Given the description of an element on the screen output the (x, y) to click on. 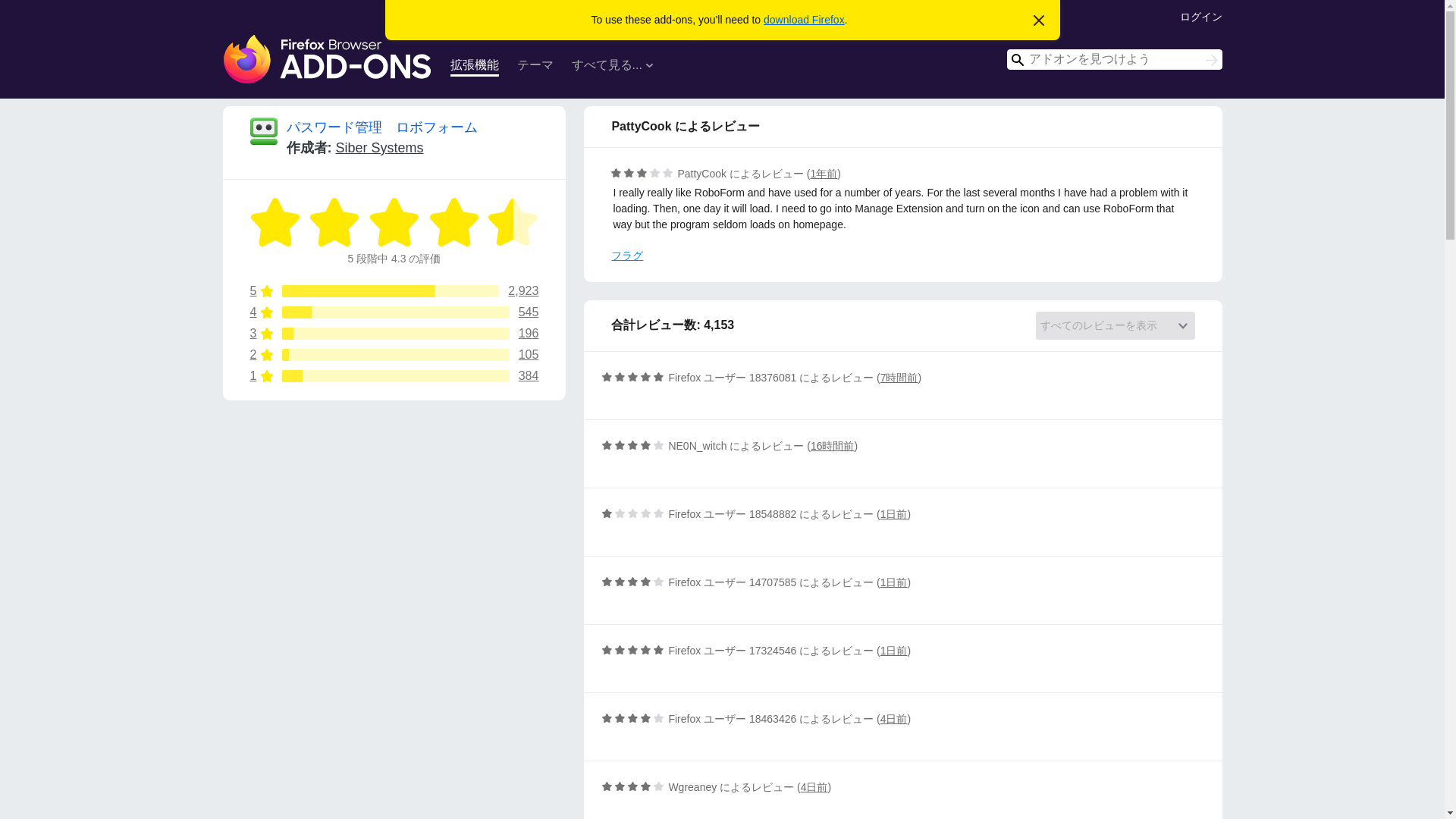
download Firefox (394, 312)
Siber Systems (803, 19)
